Given the description of an element on the screen output the (x, y) to click on. 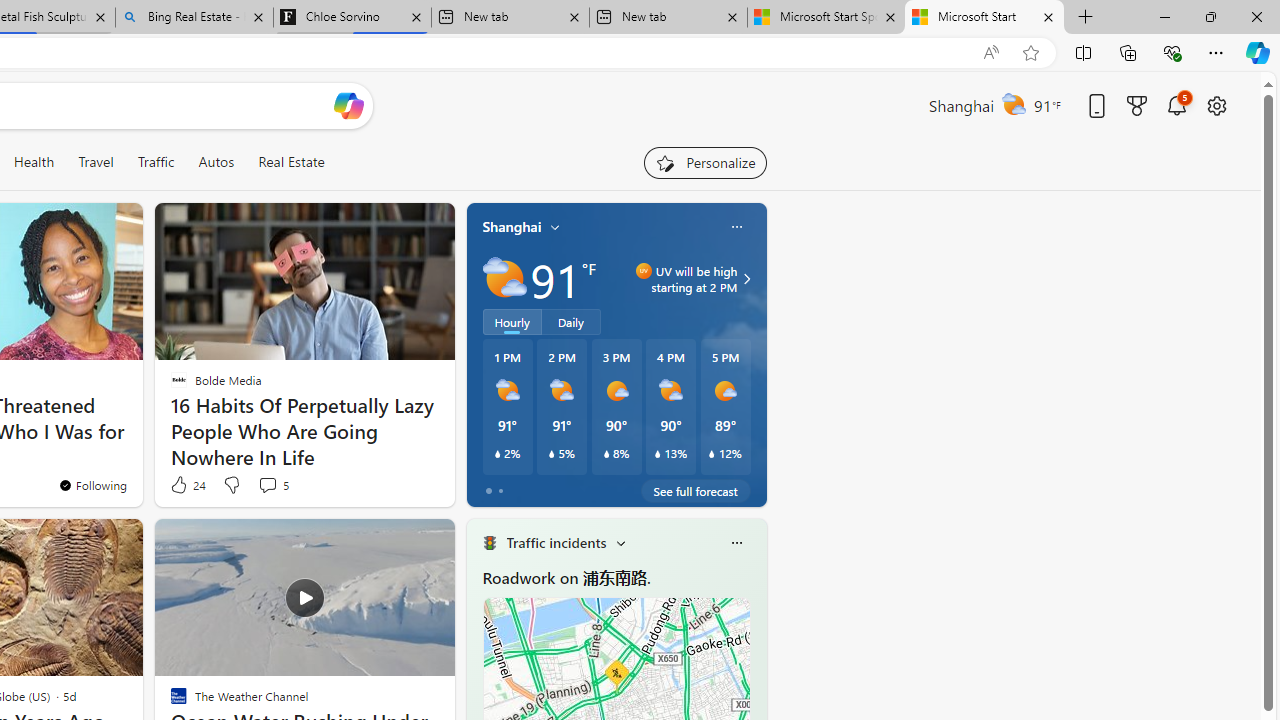
Shanghai (511, 227)
My location (555, 227)
You're following Newsweek (92, 485)
previous (476, 670)
Bing Real Estate - Home sales and rental listings (194, 17)
